Given the description of an element on the screen output the (x, y) to click on. 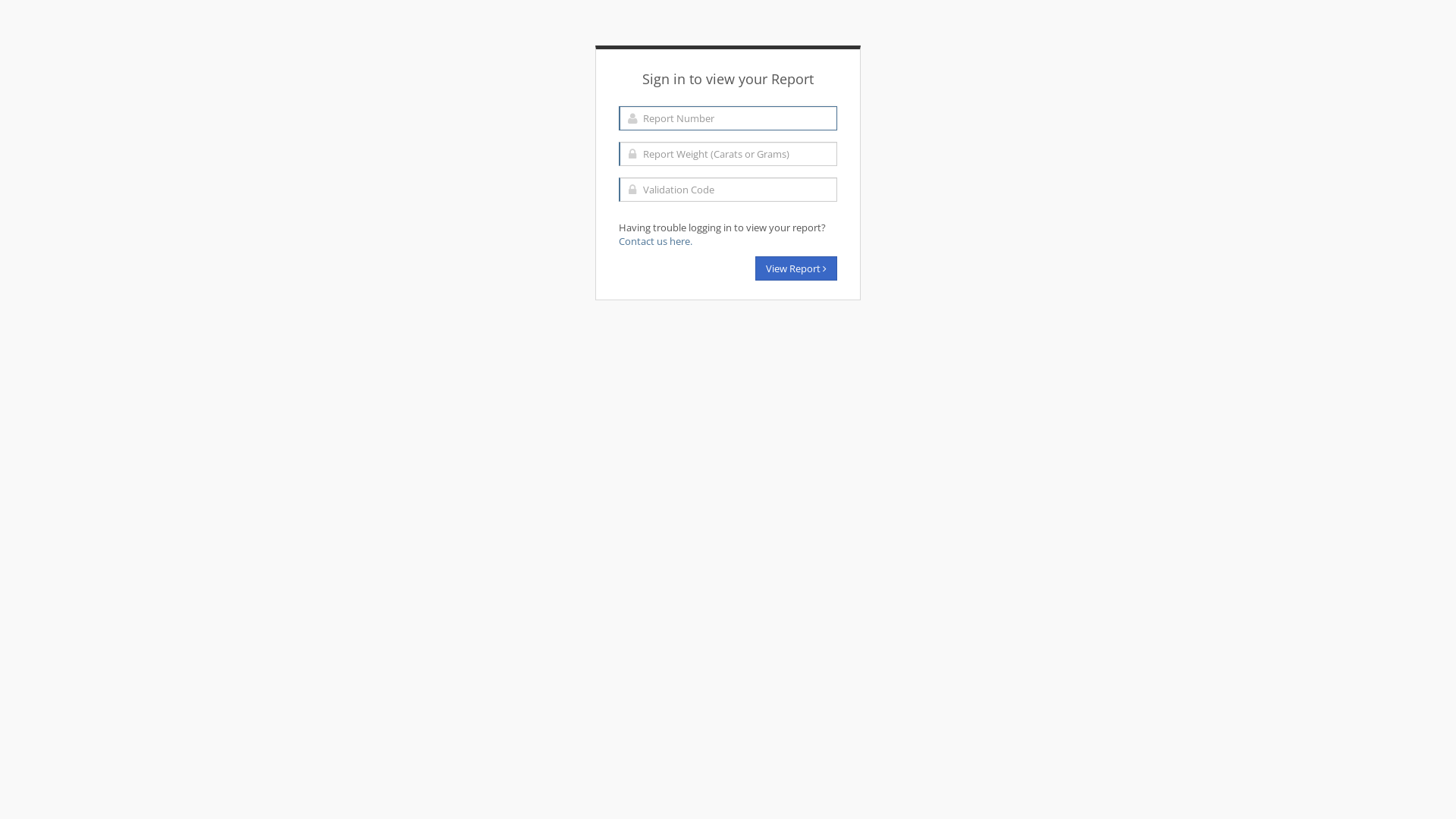
Contact us here. Element type: text (655, 240)
View Report Element type: text (796, 268)
